Given the description of an element on the screen output the (x, y) to click on. 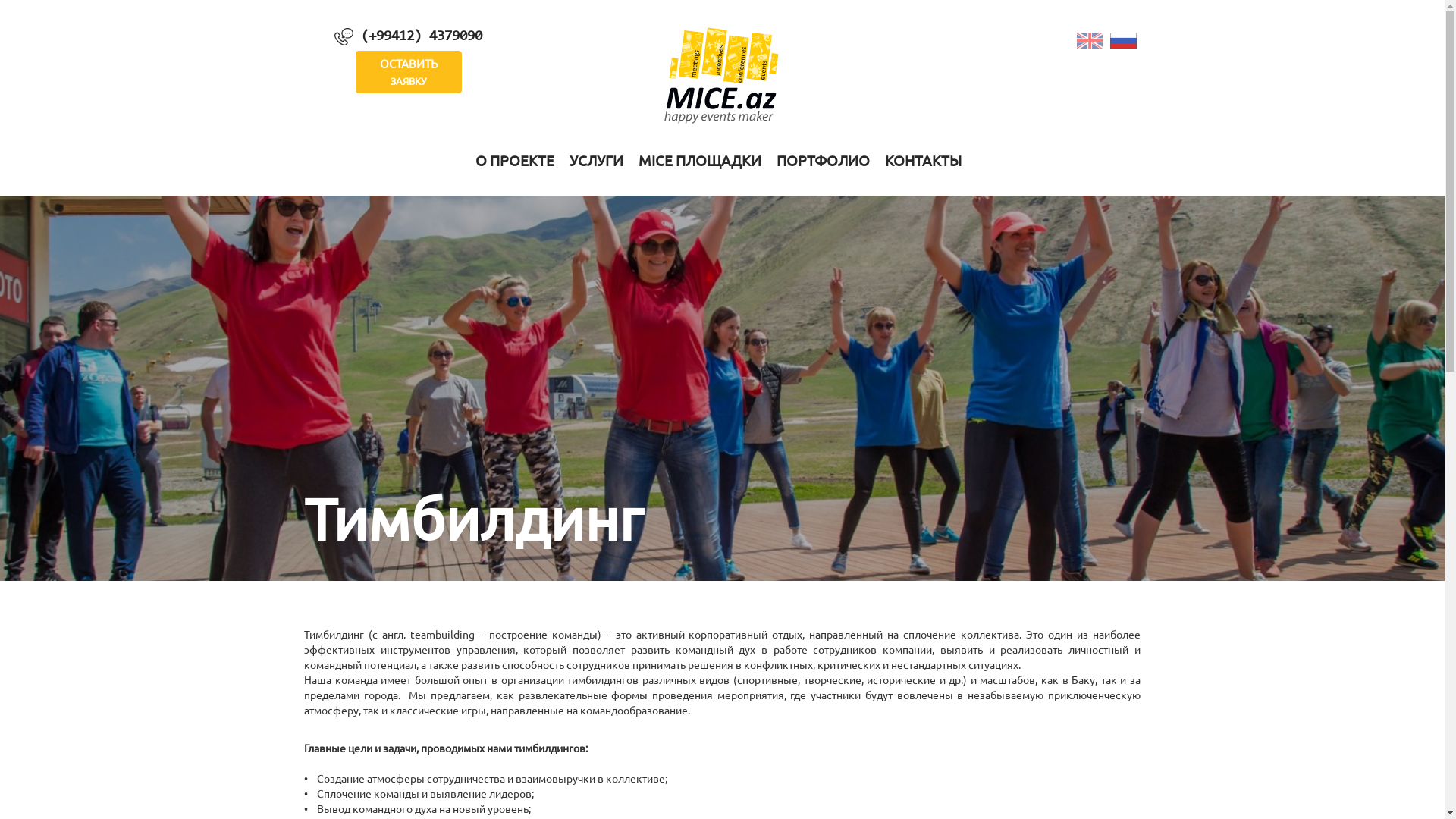
English Element type: hover (1089, 38)
